Given the description of an element on the screen output the (x, y) to click on. 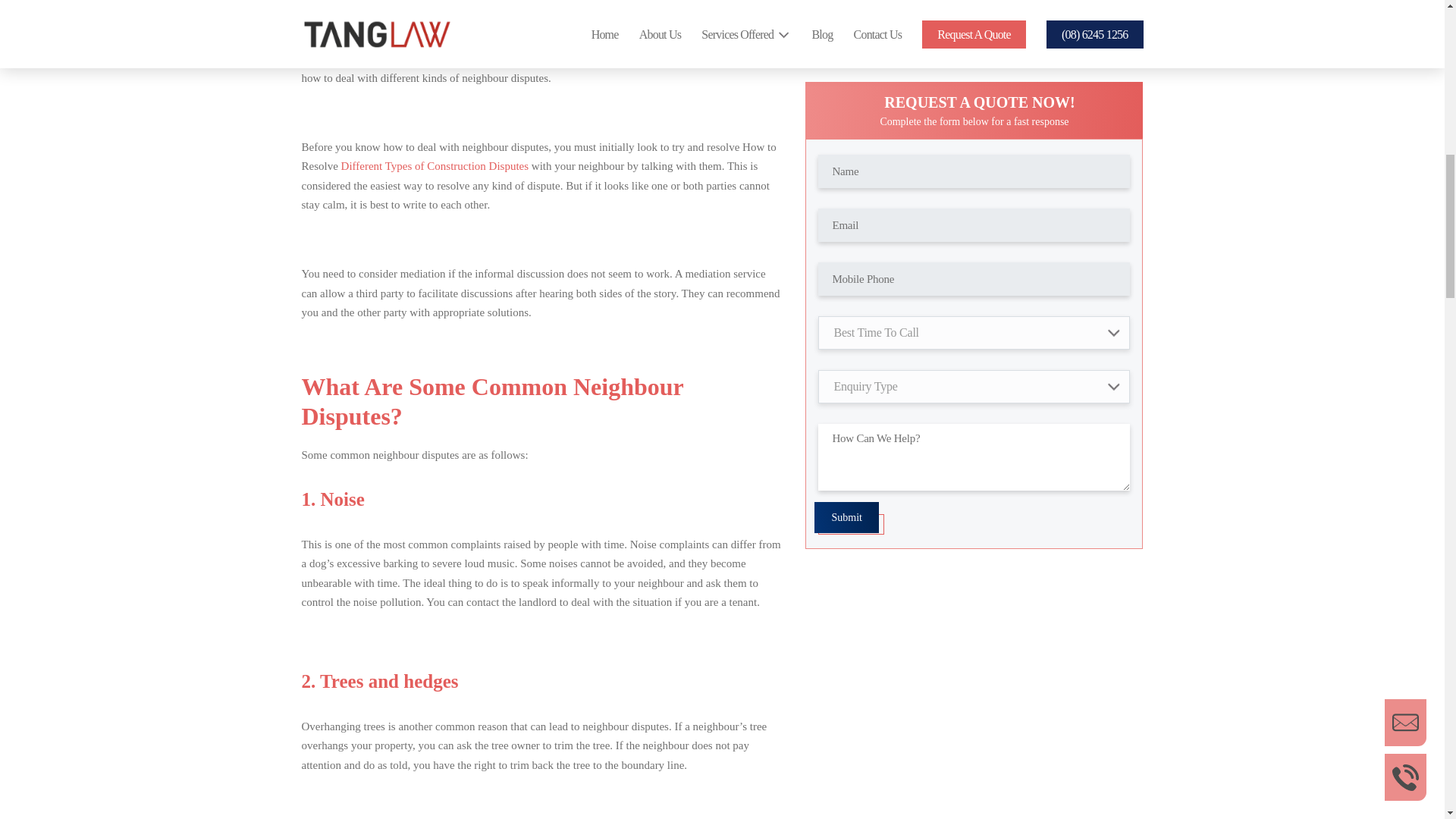
Different Types of Construction Disputes (434, 165)
